Given the description of an element on the screen output the (x, y) to click on. 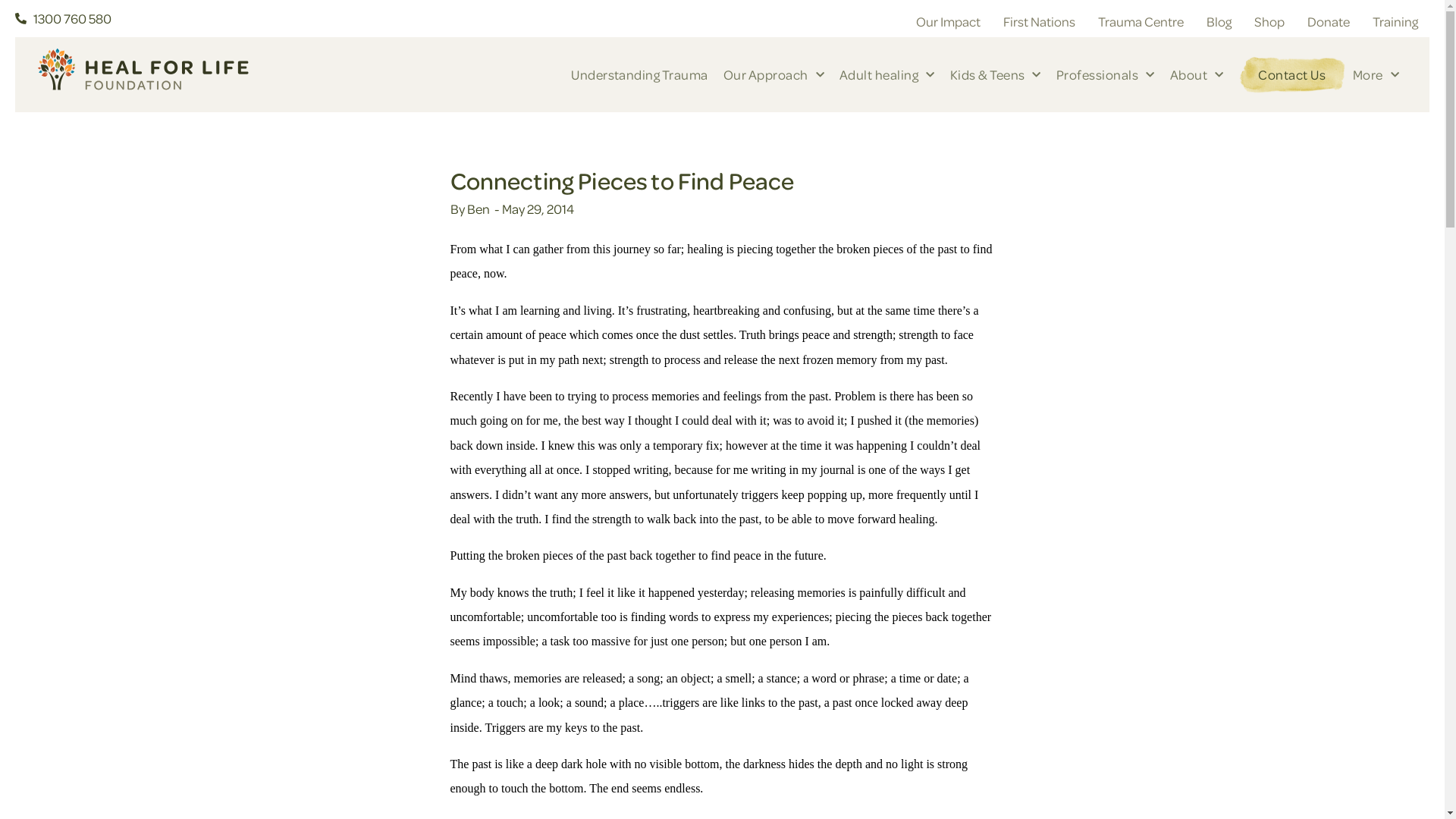
Professionals Element type: text (1105, 75)
Trauma Centre Element type: text (1140, 21)
Contact Us Element type: text (1292, 75)
First Nations Element type: text (1038, 21)
More Element type: text (1375, 75)
Understanding Trauma Element type: text (639, 75)
Adult healing Element type: text (886, 75)
  - May 29, 2014 Element type: text (531, 209)
1300 760 580 Element type: text (250, 18)
About Element type: text (1196, 75)
Our Impact Element type: text (947, 21)
Training Element type: text (1395, 21)
Shop Element type: text (1268, 21)
Kids & Teens Element type: text (995, 75)
Donate Element type: text (1328, 21)
Our Approach Element type: text (773, 75)
Blog Element type: text (1218, 21)
